Given the description of an element on the screen output the (x, y) to click on. 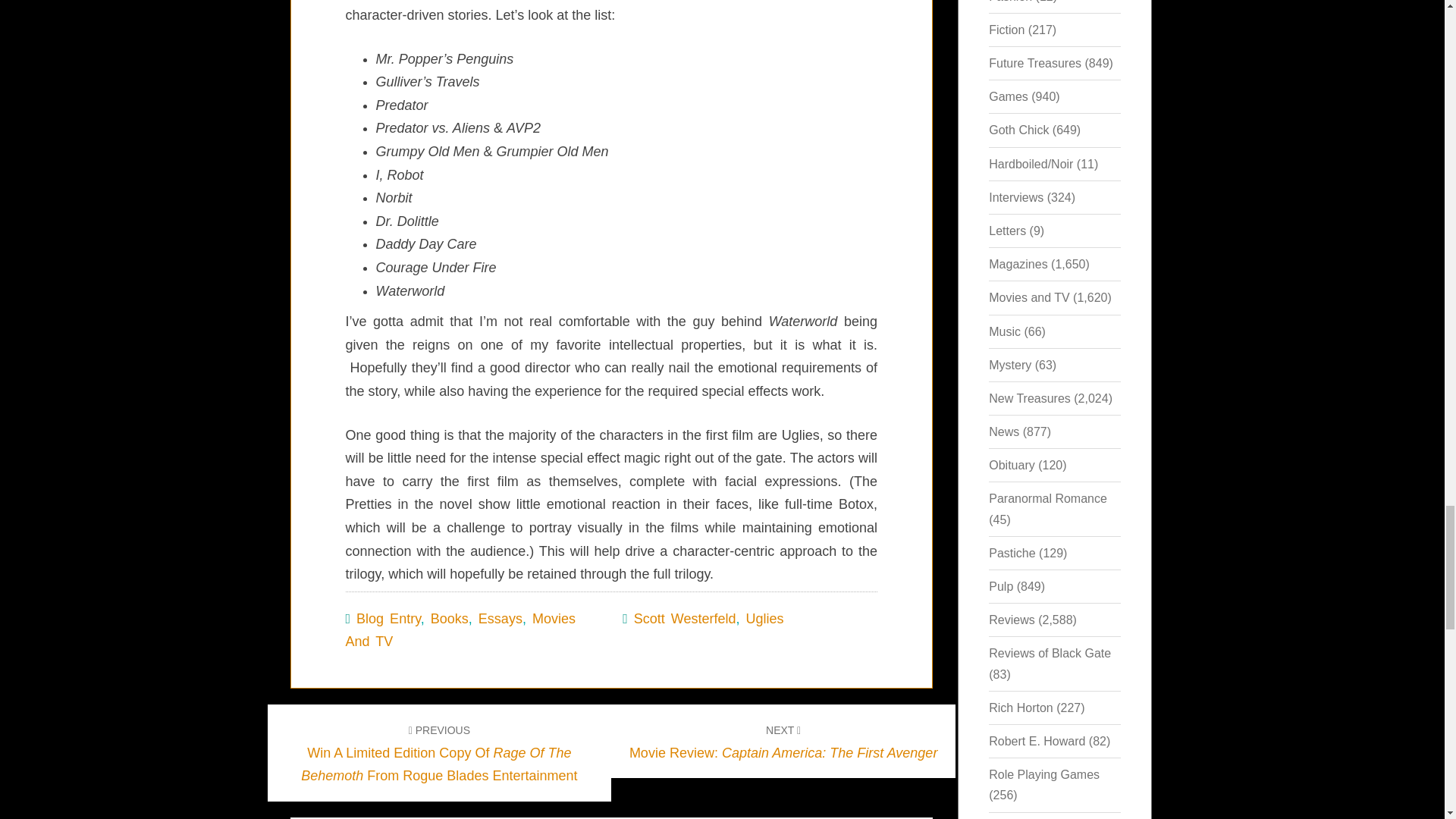
Blog Entry (388, 618)
Essays (782, 740)
Uglies (500, 618)
Books (764, 618)
Scott Westerfeld (449, 618)
Movies And TV (684, 618)
